Given the description of an element on the screen output the (x, y) to click on. 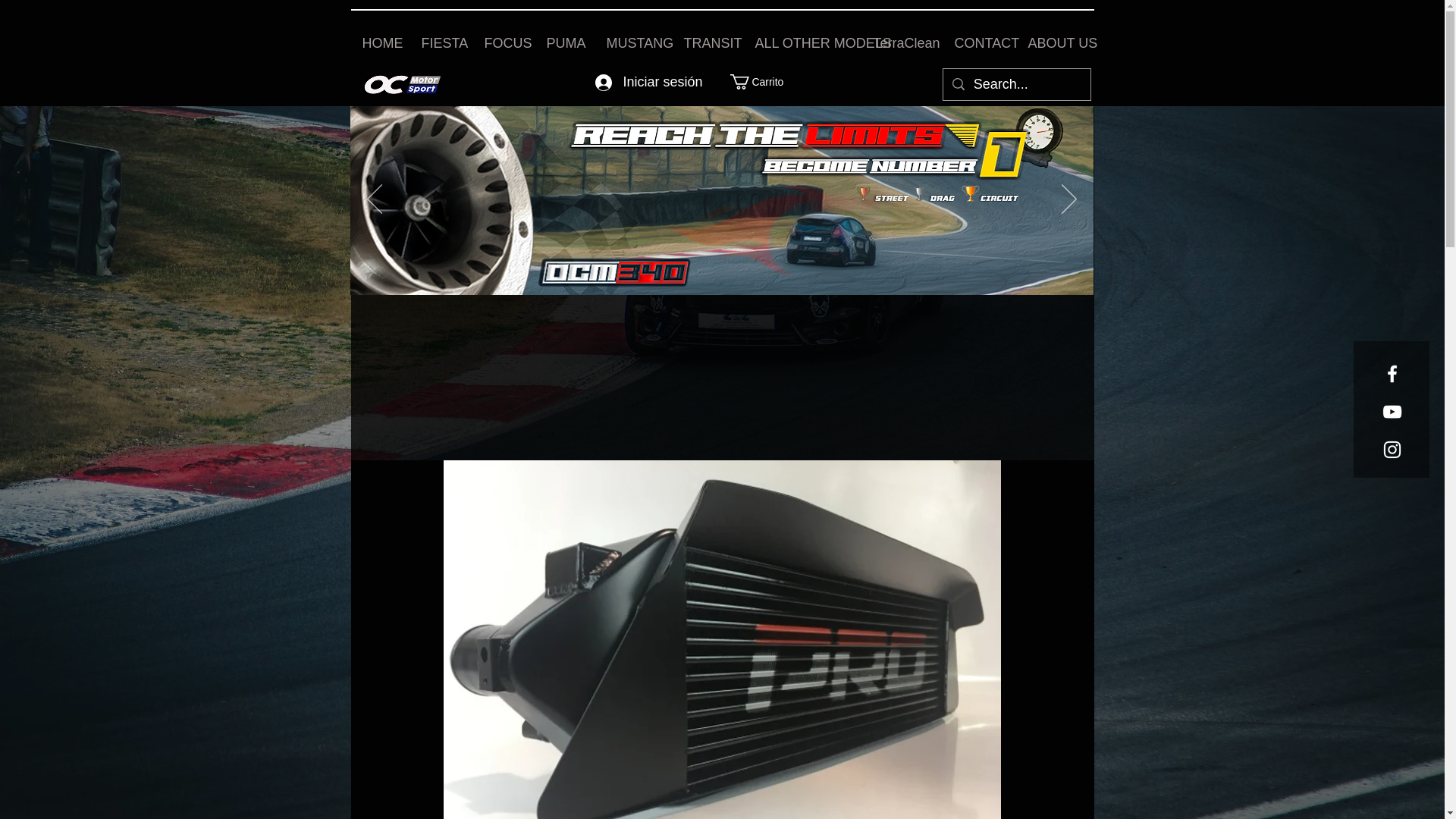
Carrito (758, 81)
Carrito (758, 81)
CONTACT (979, 43)
MUSTANG (632, 43)
FOCUS (504, 43)
TRANSIT (706, 43)
TerraClean (901, 43)
ABOUT US (1054, 43)
HOME (379, 43)
ALL OTHER MODELS (801, 43)
FIESTA (440, 43)
PUMA (565, 43)
